Given the description of an element on the screen output the (x, y) to click on. 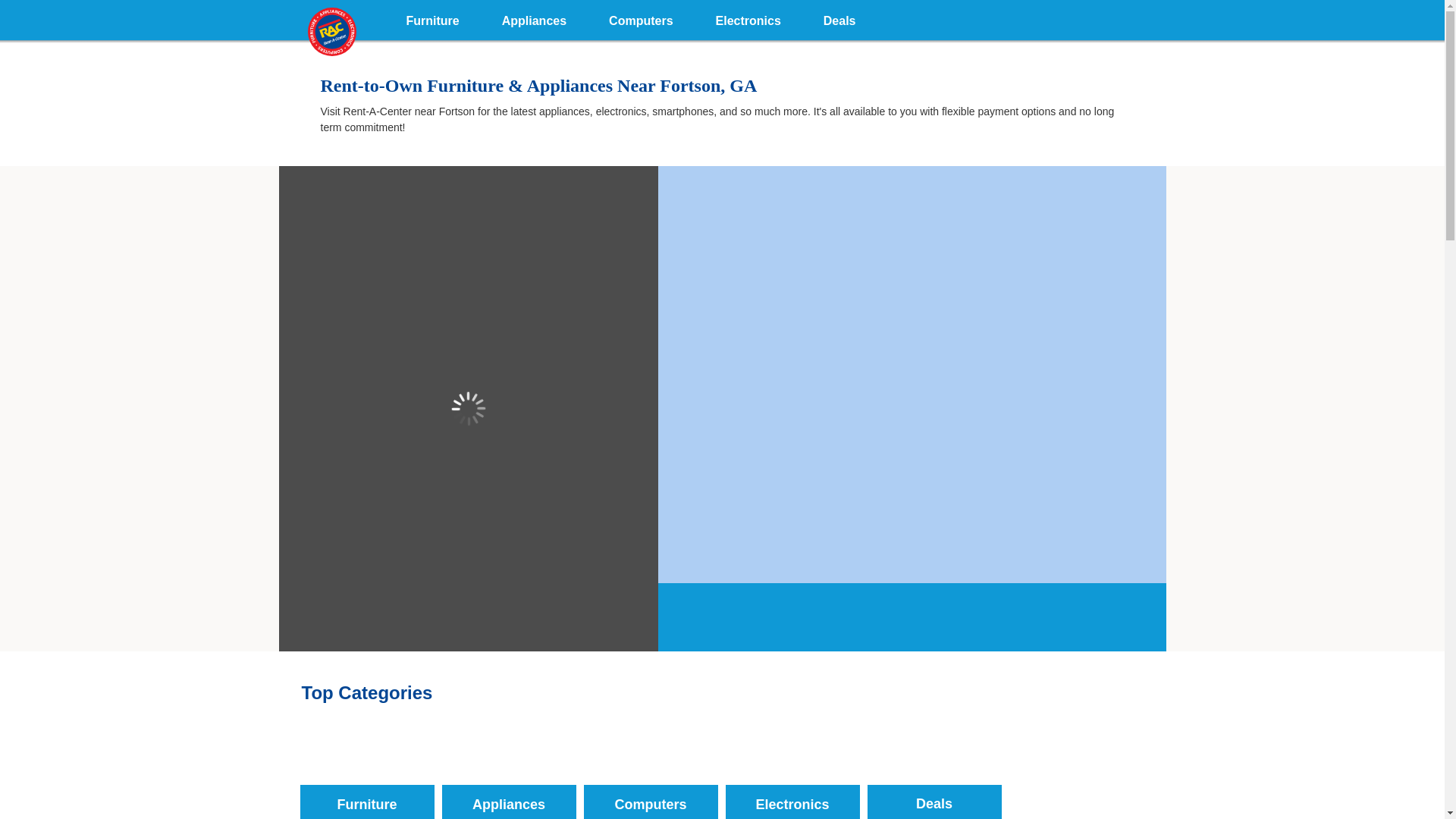
Electronics (792, 771)
Furniture (432, 18)
Deals (839, 18)
Appliances (534, 18)
Computers (641, 18)
Electronics (748, 18)
Furniture (366, 771)
Deals (934, 771)
Computers (650, 771)
Appliances (508, 771)
